Given the description of an element on the screen output the (x, y) to click on. 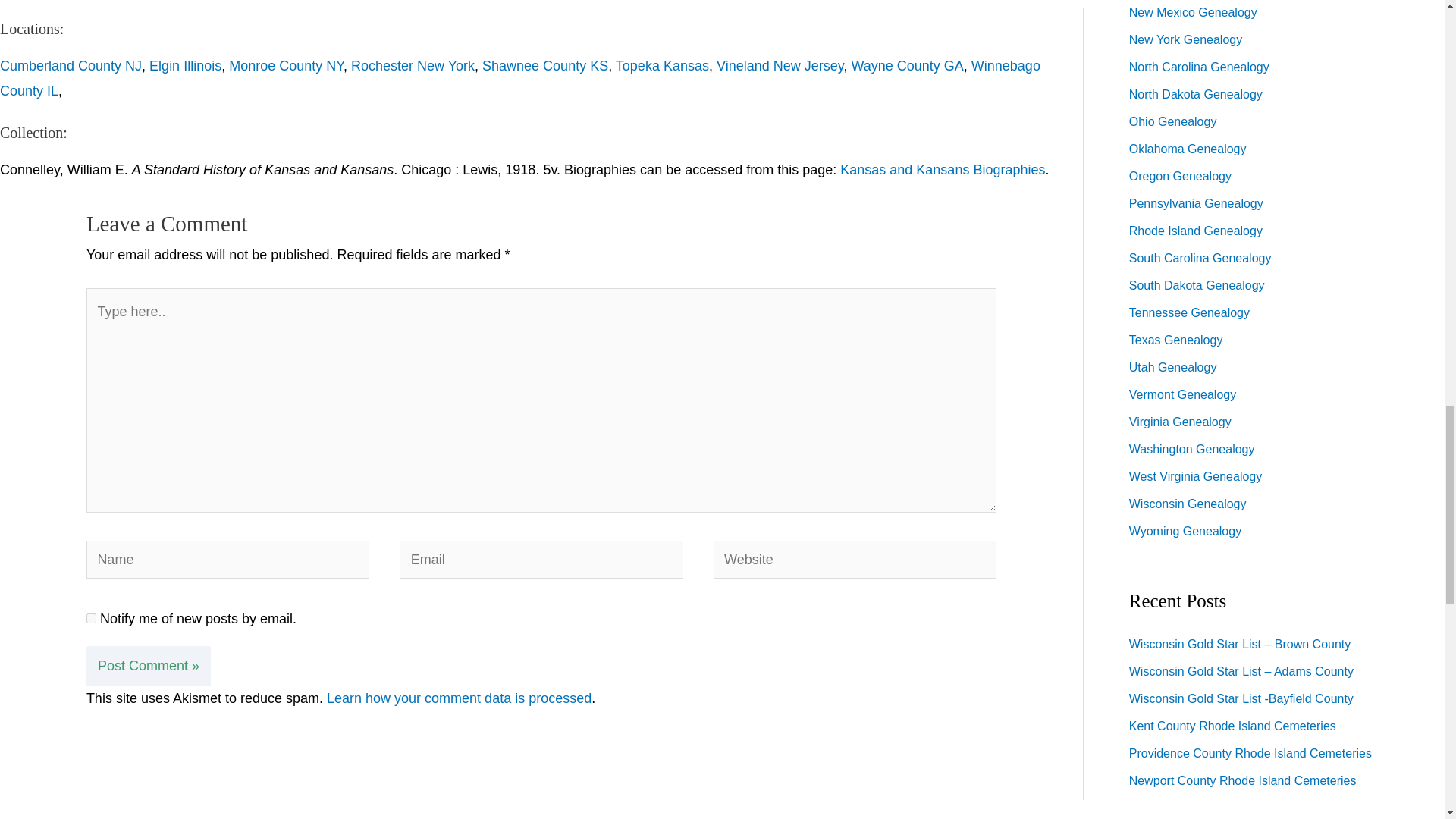
Vineland New Jersey (779, 65)
Shawnee County KS (544, 65)
Learn how your comment data is processed (458, 698)
Kansas and Kansans Biographies (942, 169)
Wayne County GA (906, 65)
Winnebago County IL (520, 78)
subscribe (90, 618)
Rochester New York (412, 65)
Topeka Kansas (662, 65)
Cumberland County NJ (70, 65)
Kansas and Kansans Biographies (942, 169)
Monroe County NY (285, 65)
Elgin Illinois (185, 65)
